Given the description of an element on the screen output the (x, y) to click on. 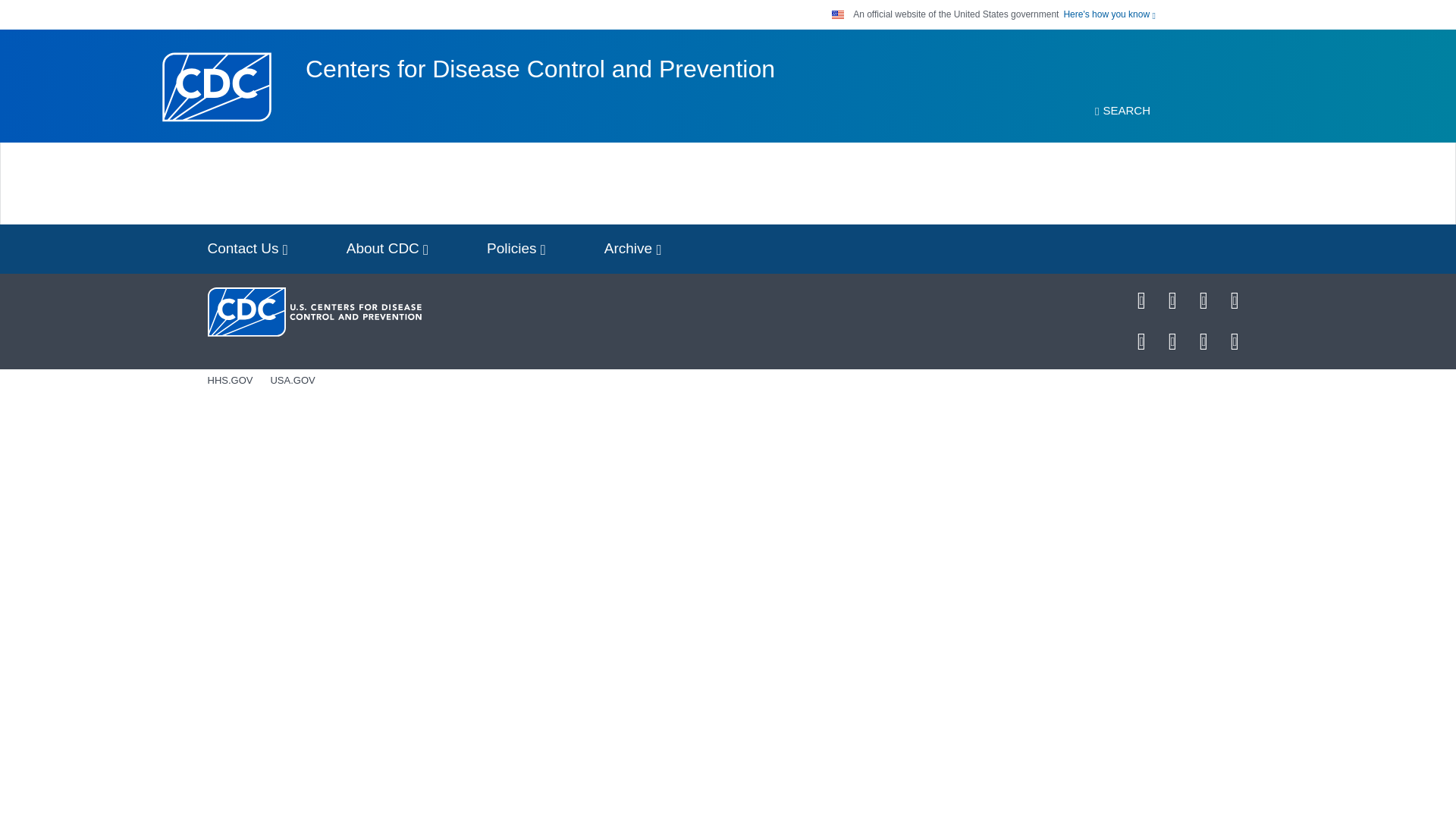
Contact Us (247, 248)
Centers for Disease Control and Prevention (539, 68)
Archive (633, 248)
About CDC (387, 248)
Here's how you know (1108, 14)
SEARCH (1122, 110)
Policies (516, 248)
